Given the description of an element on the screen output the (x, y) to click on. 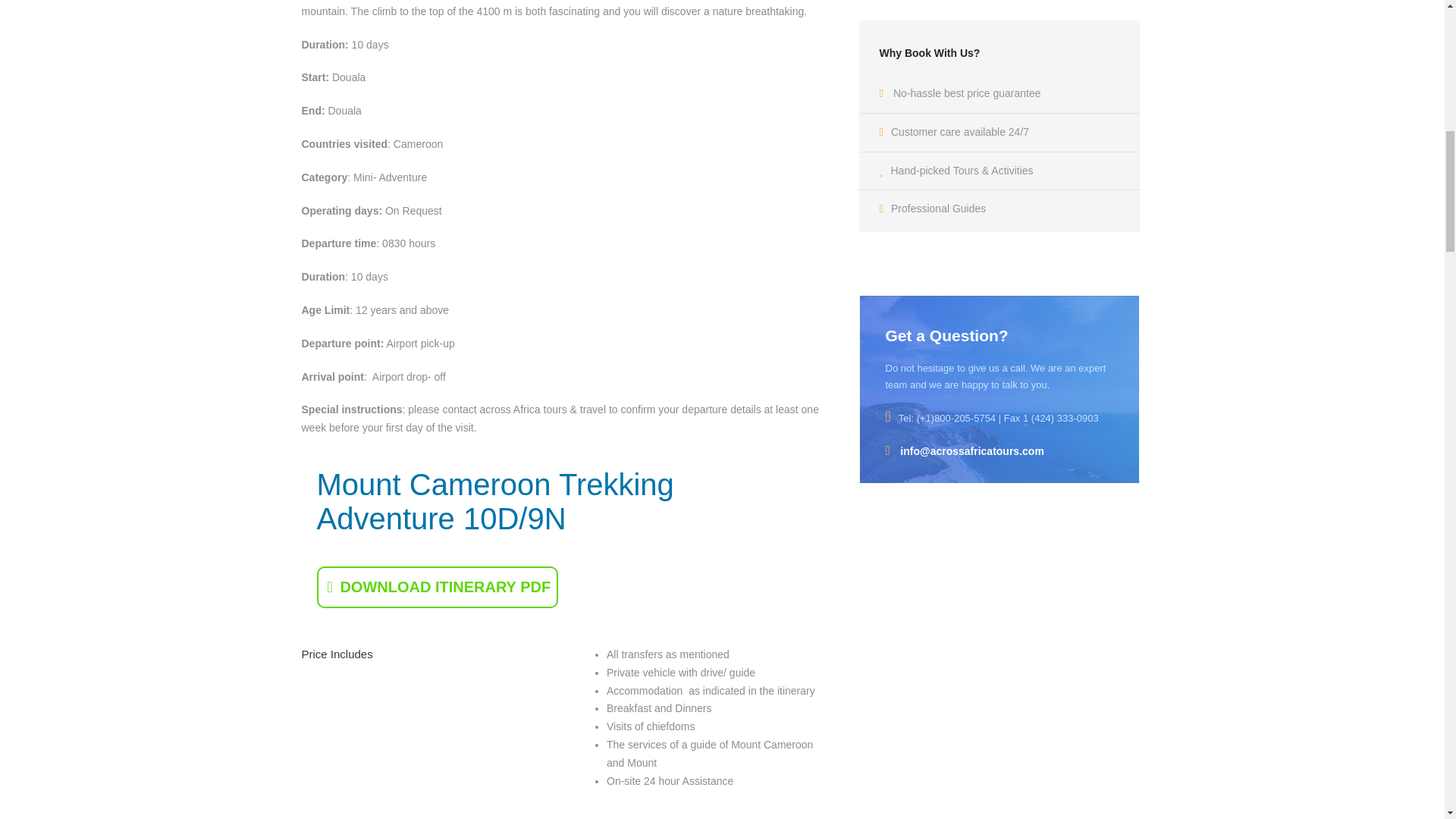
Page 14 (703, 732)
Page 12 (564, 10)
